Given the description of an element on the screen output the (x, y) to click on. 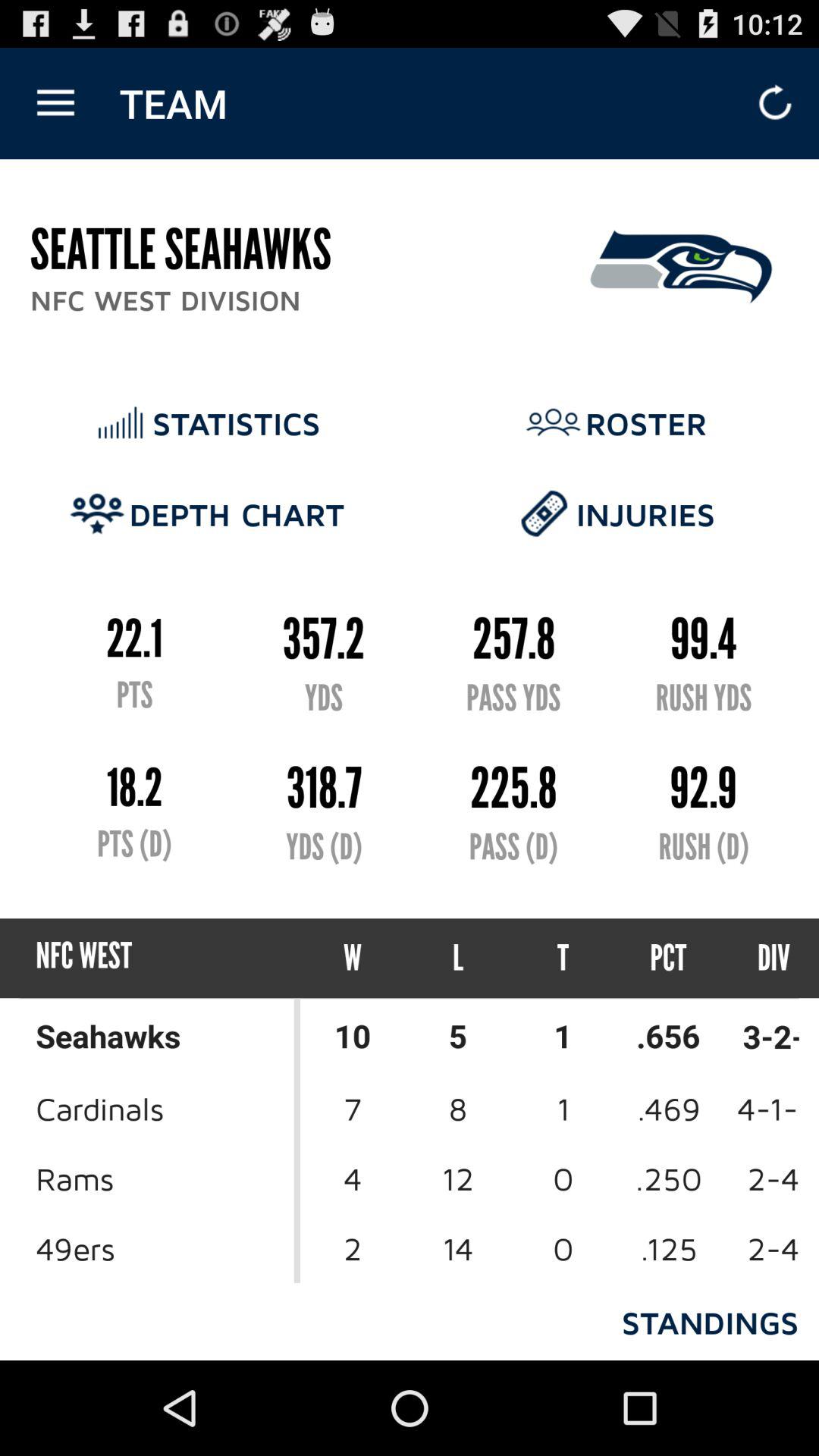
choose app next to team item (55, 103)
